Given the description of an element on the screen output the (x, y) to click on. 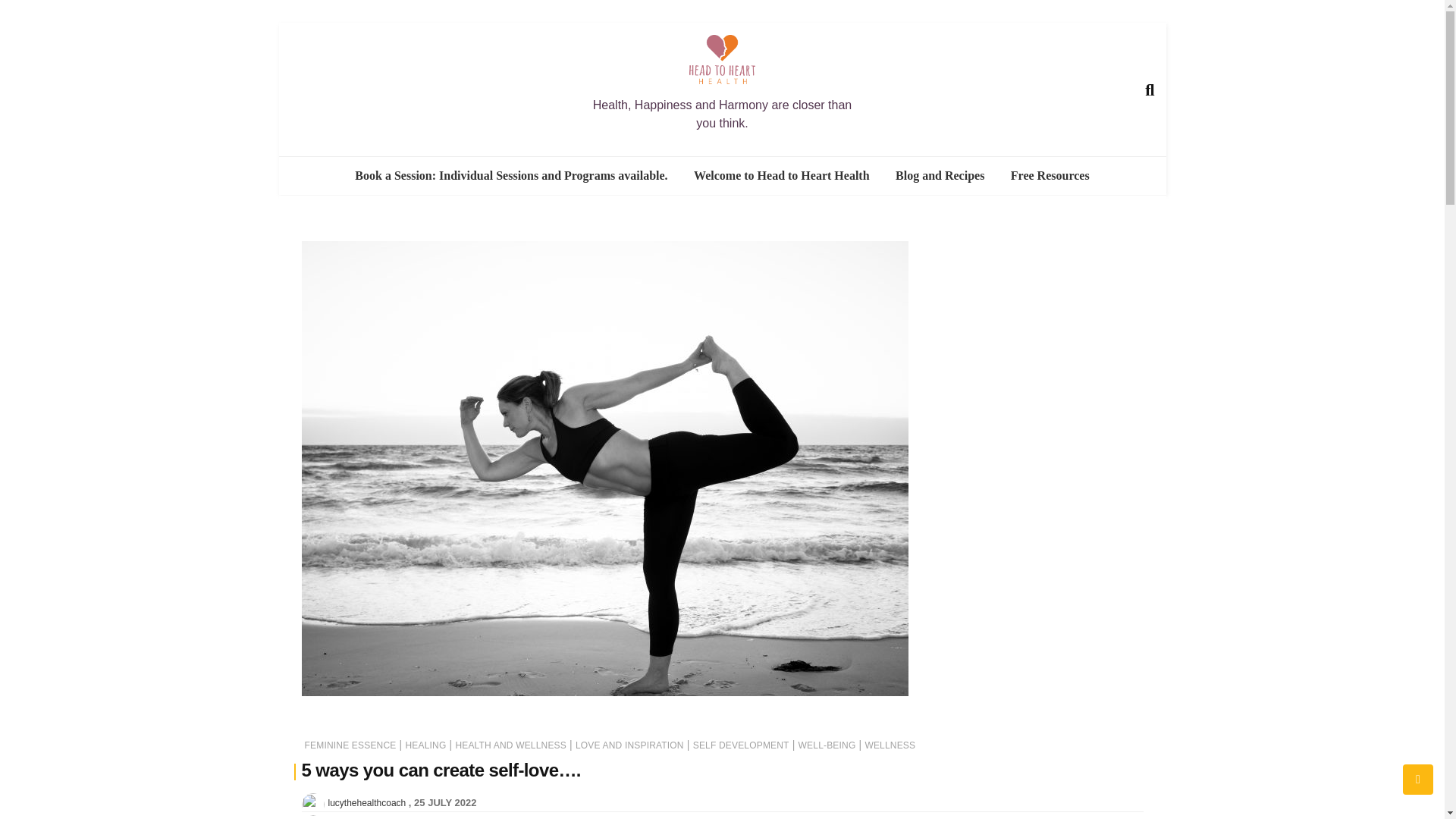
LOVE AND INSPIRATION (629, 745)
HEALTH AND WELLNESS (510, 745)
lucythehealthcoach (366, 801)
HEALING (424, 745)
Welcome to Head to Heart Health (781, 175)
Book a Session: Individual Sessions and Programs available. (510, 175)
WELLNESS (889, 745)
Free Resources (1049, 175)
25 JULY 2022 (444, 802)
Blog and Recipes (939, 175)
WELL-BEING (826, 745)
SELF DEVELOPMENT (741, 745)
FEMININE ESSENCE (350, 745)
